Given the description of an element on the screen output the (x, y) to click on. 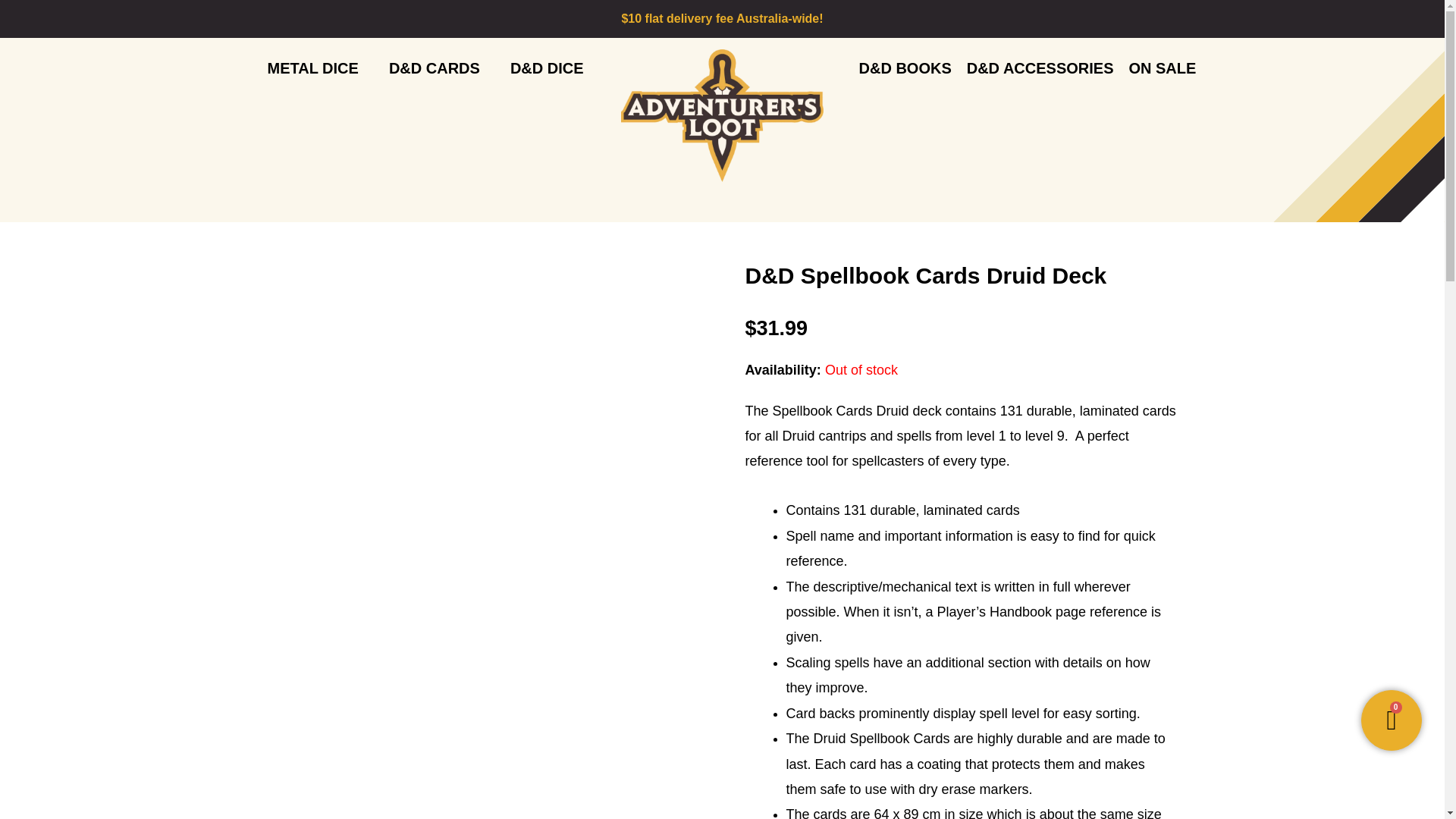
METAL DICE (312, 68)
ON SALE (1161, 68)
